Given the description of an element on the screen output the (x, y) to click on. 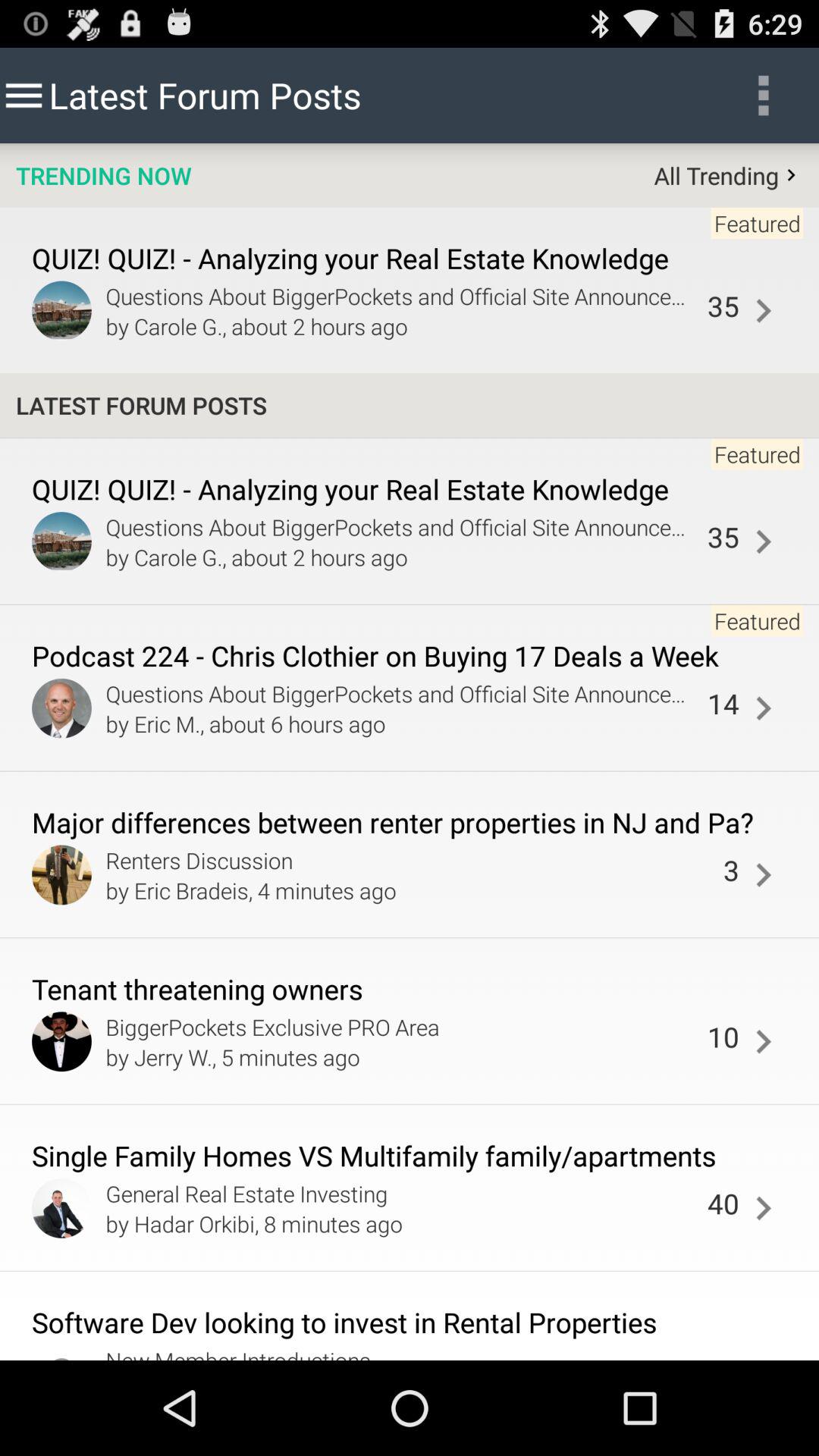
swipe to the new member introductions icon (410, 1352)
